Given the description of an element on the screen output the (x, y) to click on. 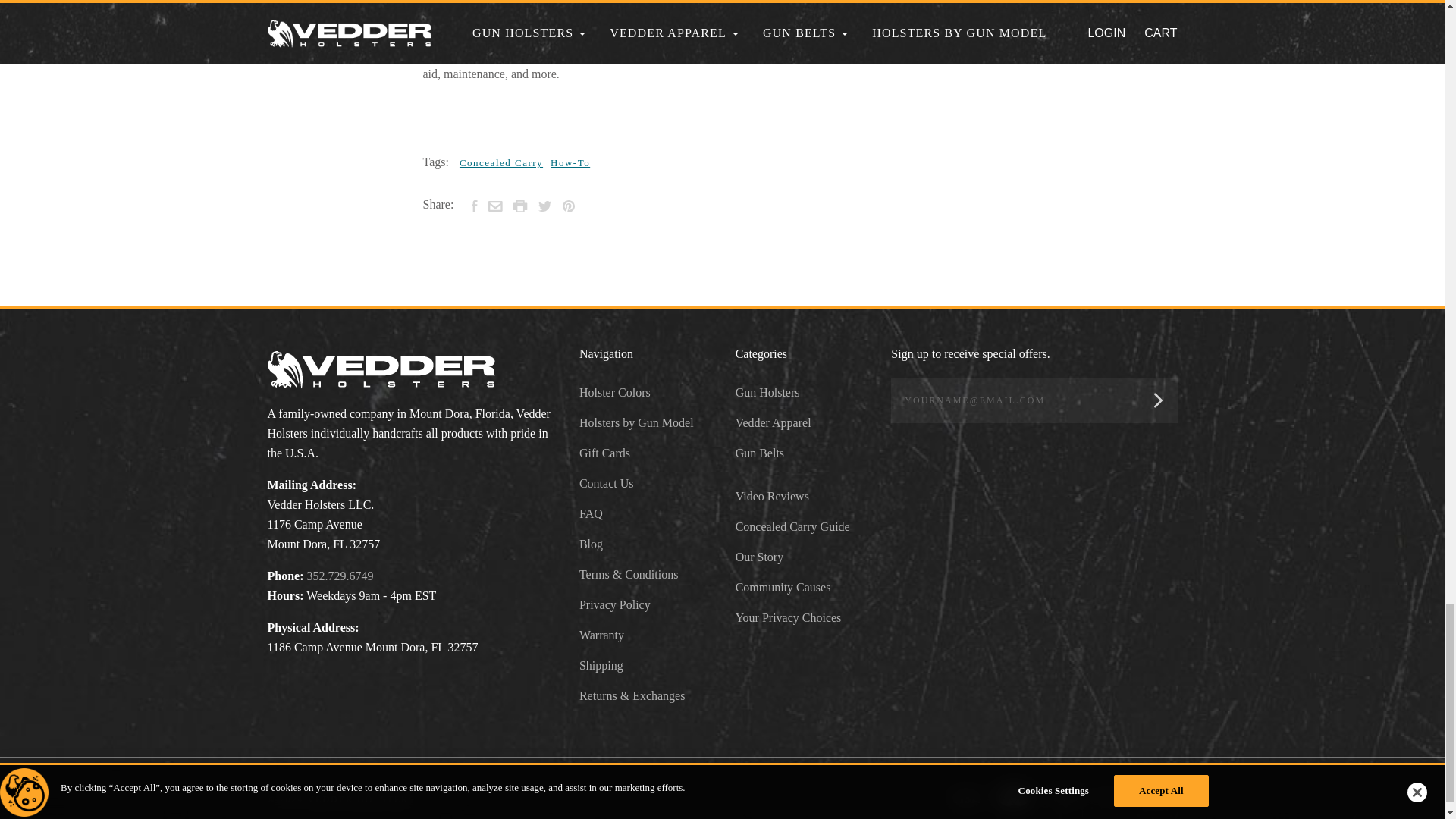
APPLE PAY (1161, 796)
printer (520, 205)
twitter (544, 205)
pinterest (568, 205)
email (494, 205)
